Given the description of an element on the screen output the (x, y) to click on. 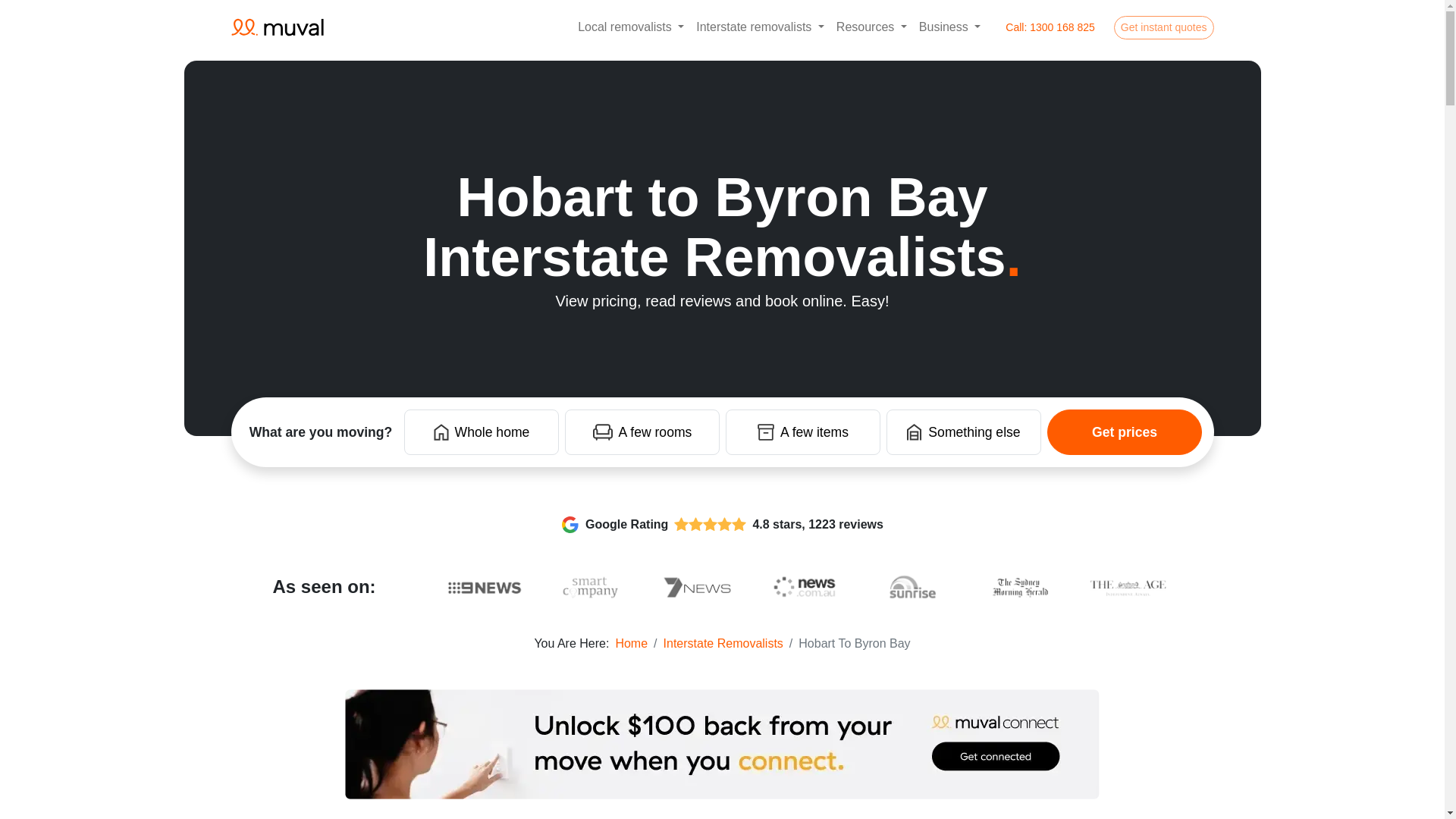
Local removalists (631, 27)
Interstate removalists (759, 27)
Business (949, 27)
Interstate removalists (759, 27)
Get instant quotes (1163, 26)
Call: 1300 168 825 (1050, 26)
Local removalists (631, 27)
Resources (870, 27)
